Given the description of an element on the screen output the (x, y) to click on. 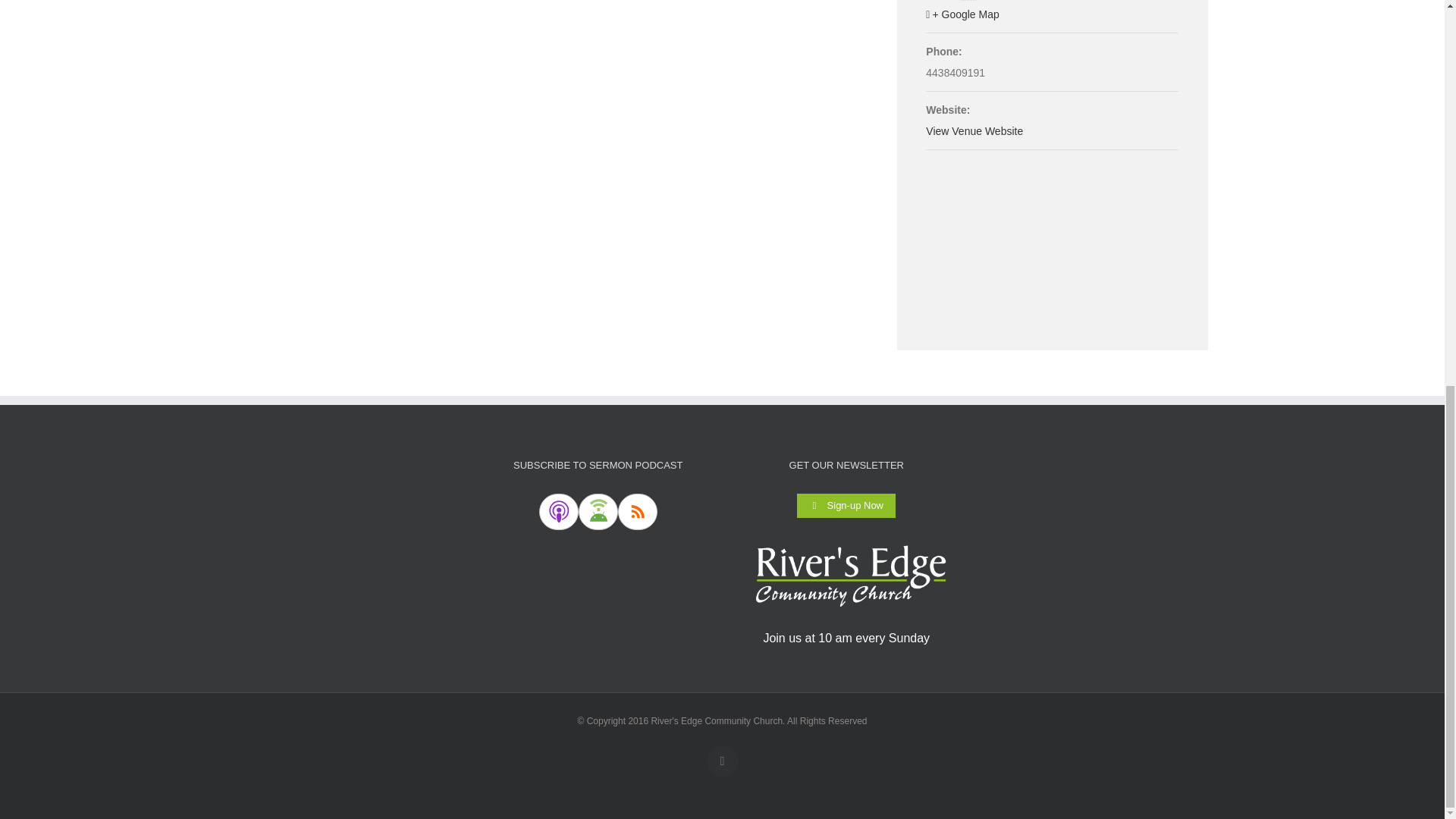
Facebook (722, 761)
Subscribe on Android (597, 511)
Subscribe via RSS (637, 511)
Subscribe on Apple Podcasts (558, 511)
Click to view a Google Map (1051, 14)
